Given the description of an element on the screen output the (x, y) to click on. 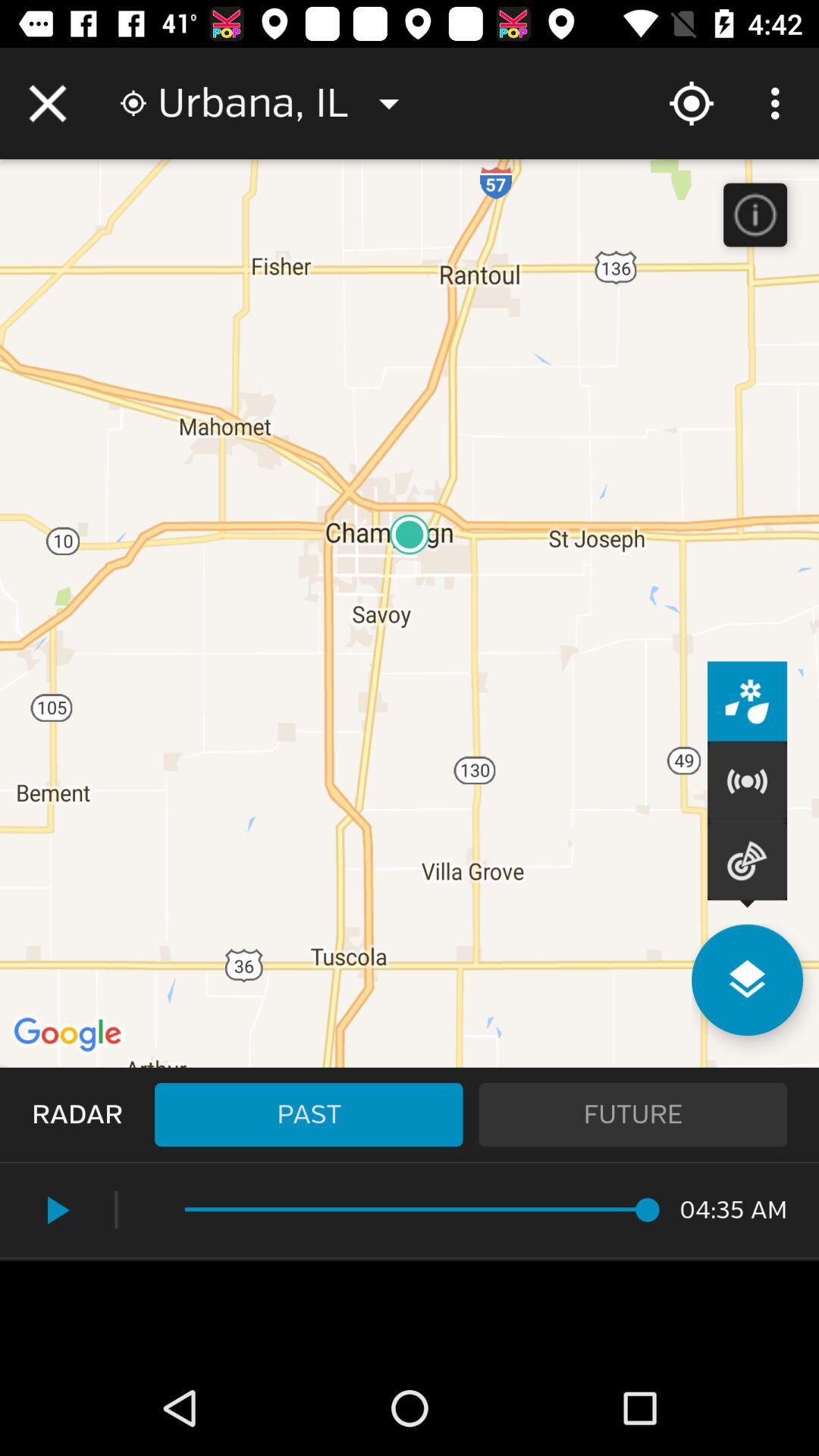
press for more information (755, 214)
